Given the description of an element on the screen output the (x, y) to click on. 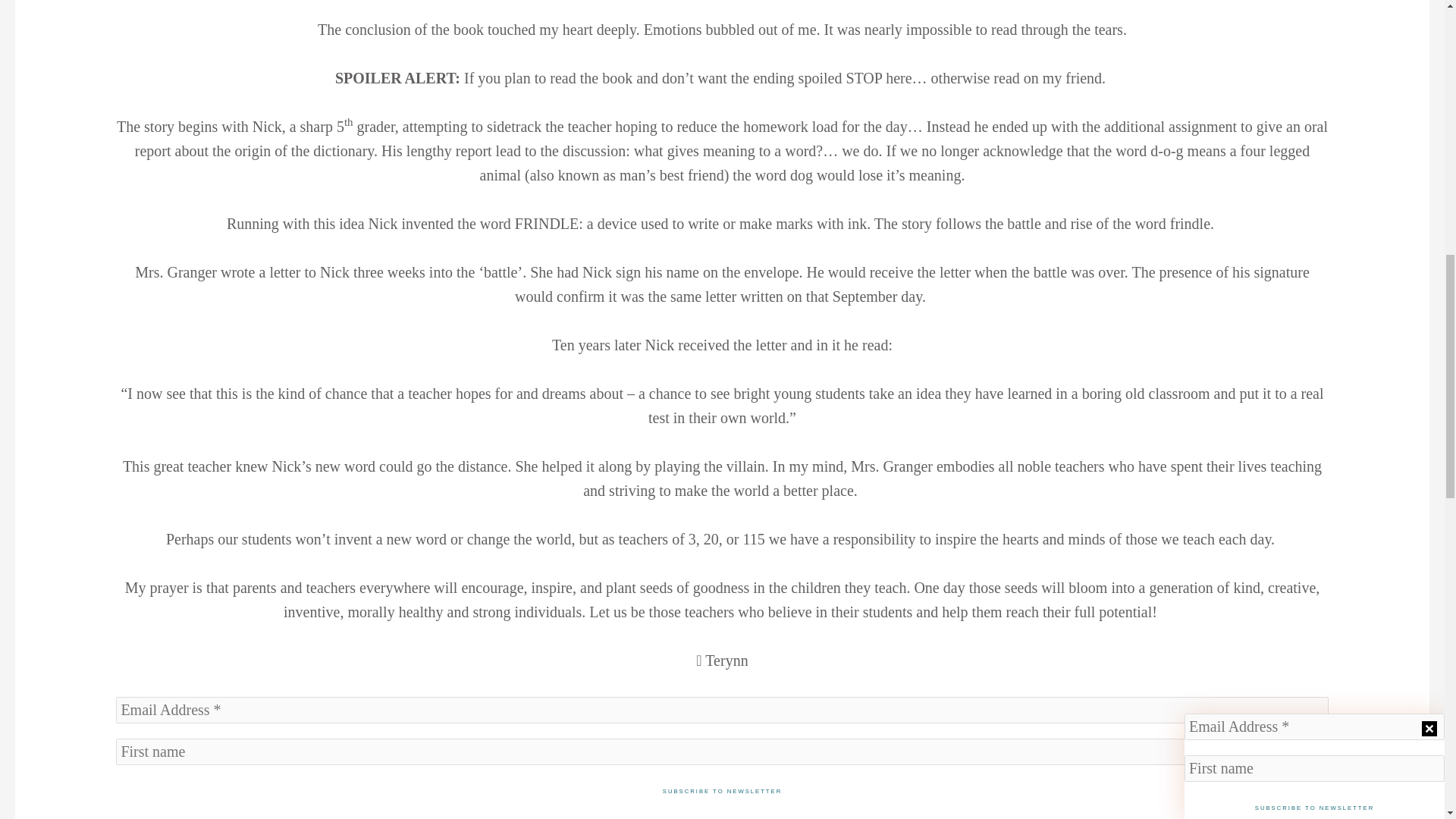
Subscribe to Newsletter (721, 791)
First name (721, 751)
Subscribe to Newsletter (721, 791)
Email Address (721, 709)
